Given the description of an element on the screen output the (x, y) to click on. 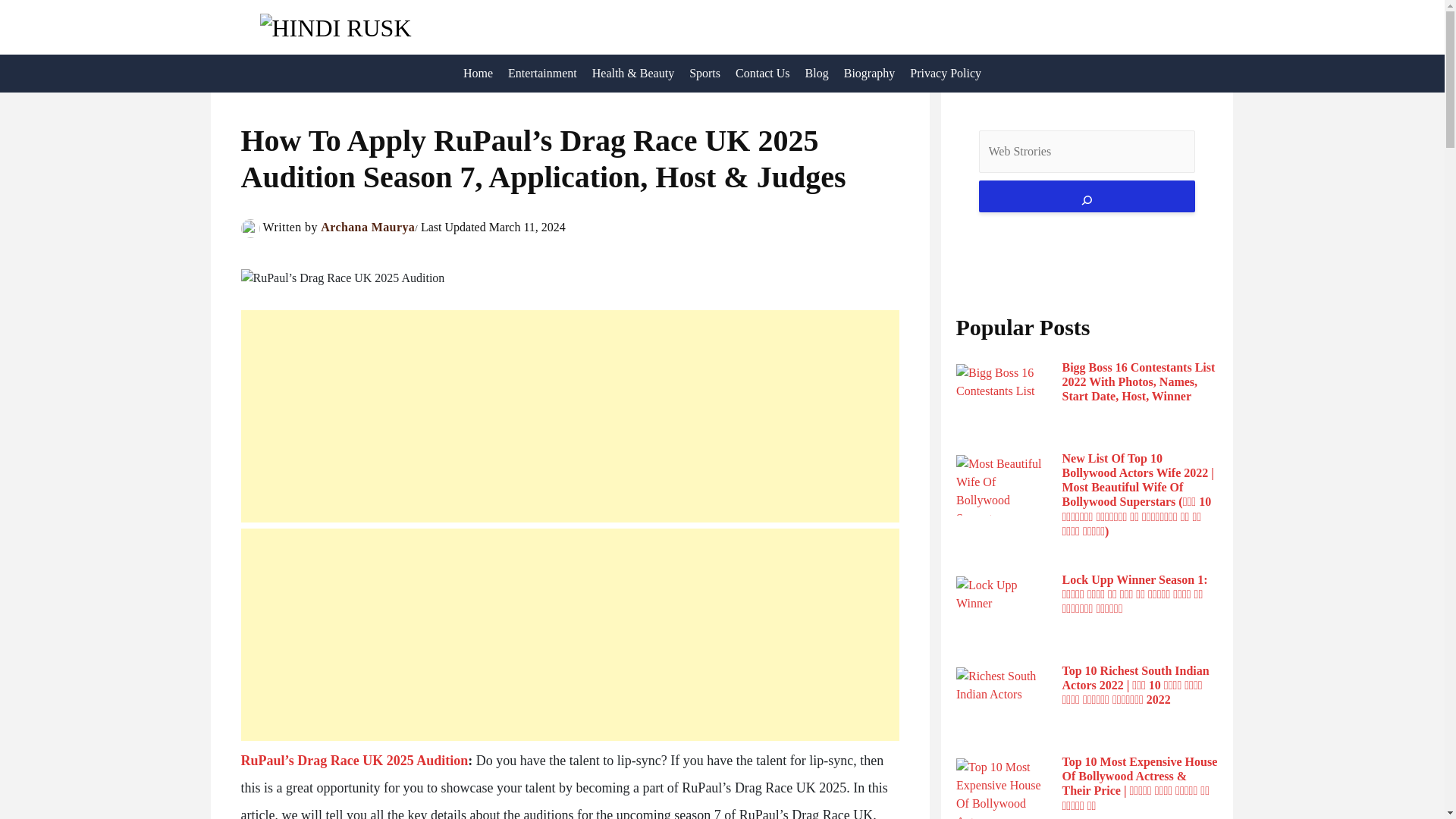
Blog (816, 73)
Privacy Policy (945, 73)
Entertainment (542, 73)
Archana Maurya (367, 226)
Posts by Archana Maurya (367, 226)
Sports (704, 73)
Biography (868, 73)
Home (477, 73)
Contact Us (762, 73)
